Given the description of an element on the screen output the (x, y) to click on. 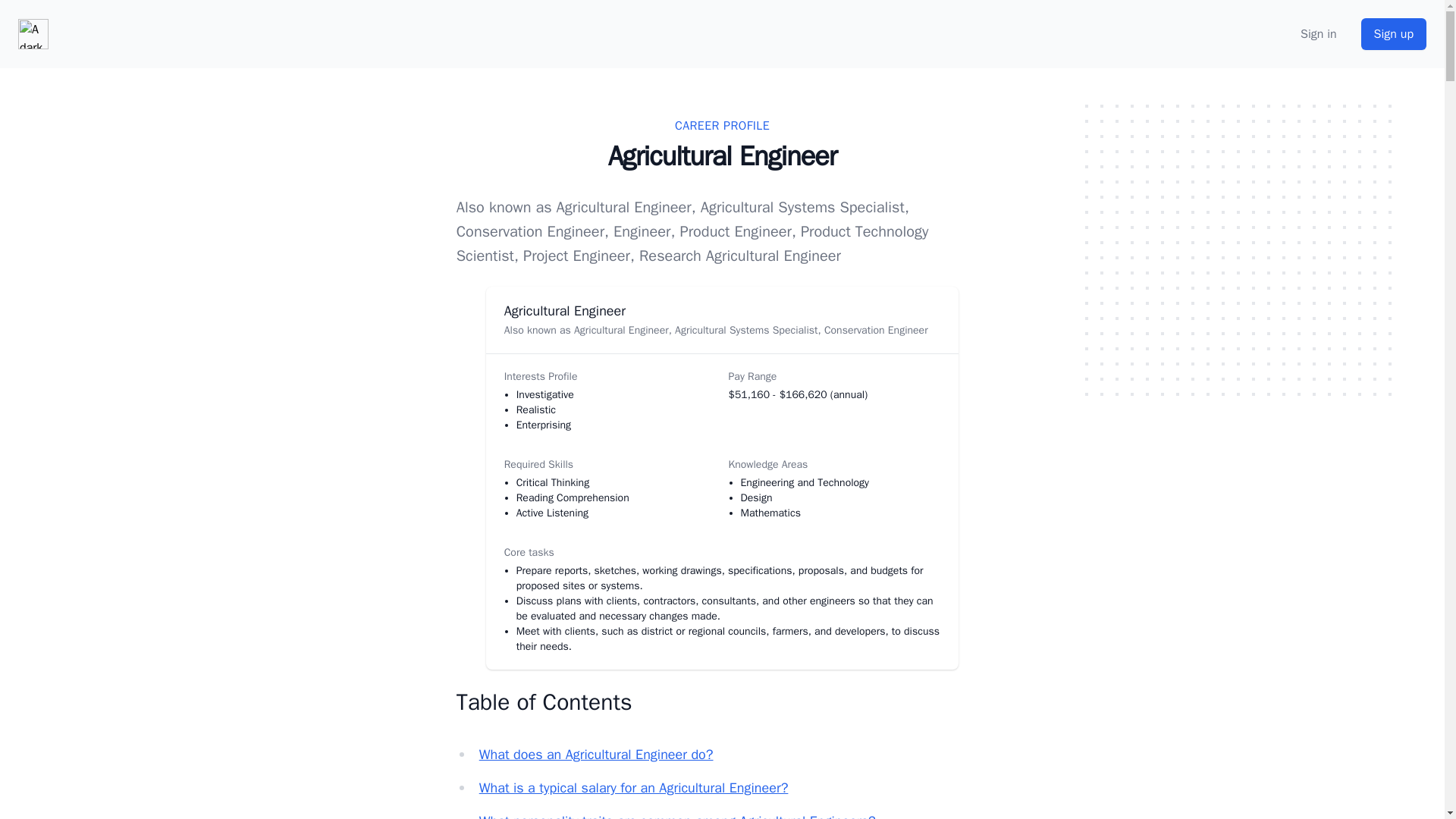
TraitLab (32, 33)
What is a typical salary for an Agricultural Engineer? (634, 787)
Sign up (1393, 33)
Sign in (1318, 34)
What does an Agricultural Engineer do? (596, 754)
